Given the description of an element on the screen output the (x, y) to click on. 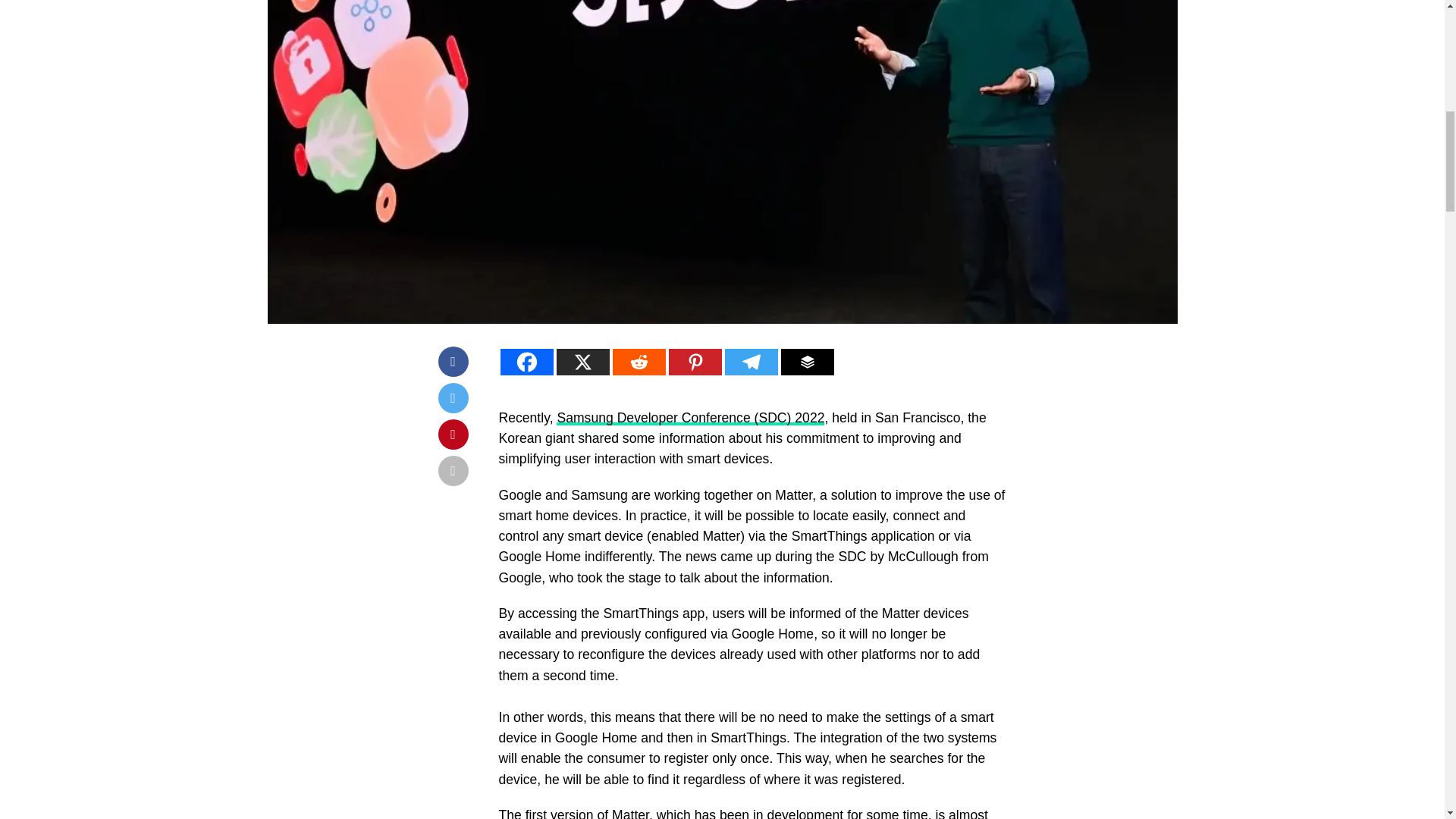
Reddit (638, 361)
X (583, 361)
Facebook (526, 361)
Pinterest (695, 361)
